Given the description of an element on the screen output the (x, y) to click on. 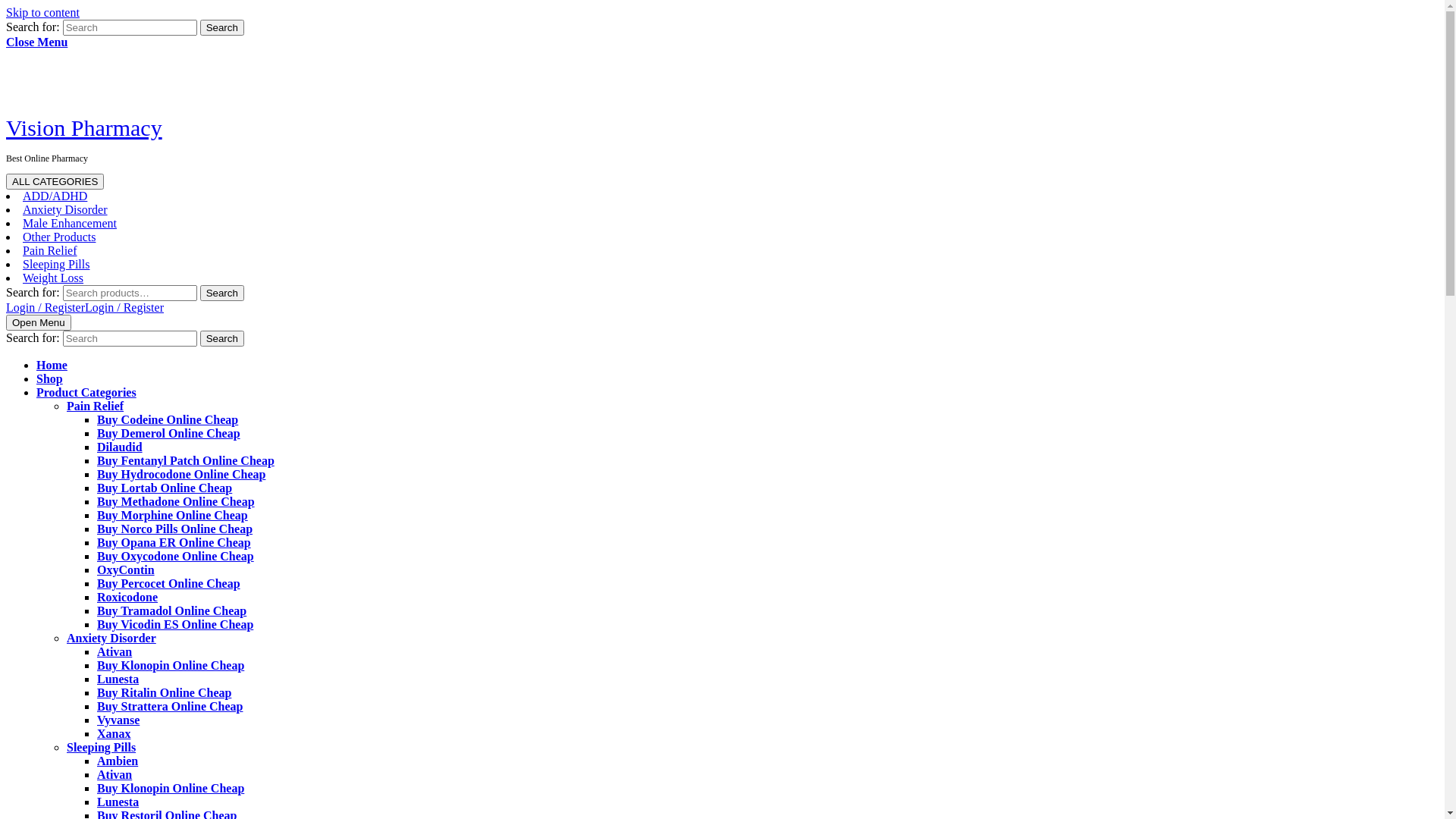
Buy Methadone Online Cheap Element type: text (175, 501)
Weight Loss Element type: text (52, 277)
Sleeping Pills Element type: text (100, 746)
Buy Fentanyl Patch Online Cheap Element type: text (185, 460)
Anxiety Disorder Element type: text (111, 637)
Pain Relief Element type: text (94, 405)
Login / RegisterLogin / Register Element type: text (84, 307)
Search Element type: text (222, 27)
Male Enhancement Element type: text (69, 222)
Open Menu Element type: text (38, 322)
Vyvanse Element type: text (118, 719)
Vision Pharmacy Element type: text (84, 127)
Anxiety Disorder Element type: text (64, 209)
Skip to content Element type: text (42, 12)
Buy Norco Pills Online Cheap Element type: text (174, 528)
Buy Oxycodone Online Cheap Element type: text (175, 555)
Buy Lortab Online Cheap Element type: text (164, 487)
Pain Relief Element type: text (49, 250)
Buy Tramadol Online Cheap Element type: text (171, 610)
Lunesta Element type: text (117, 801)
Buy Demerol Online Cheap Element type: text (168, 432)
Buy Morphine Online Cheap Element type: text (172, 514)
Sleeping Pills Element type: text (55, 263)
Ativan Element type: text (114, 651)
Buy Klonopin Online Cheap Element type: text (170, 787)
Buy Opana ER Online Cheap Element type: text (174, 542)
Home Element type: text (51, 364)
Dilaudid Element type: text (119, 446)
Xanax Element type: text (113, 733)
ADD/ADHD Element type: text (54, 195)
Buy Codeine Online Cheap Element type: text (167, 419)
Product Categories Element type: text (86, 391)
Buy Hydrocodone Online Cheap Element type: text (181, 473)
Buy Percocet Online Cheap Element type: text (168, 583)
OxyContin Element type: text (125, 569)
Roxicodone Element type: text (127, 596)
Buy Klonopin Online Cheap Element type: text (170, 664)
Ambien Element type: text (117, 760)
Buy Strattera Online Cheap Element type: text (169, 705)
Other Products Element type: text (58, 236)
Search Element type: text (222, 338)
Buy Vicodin ES Online Cheap Element type: text (175, 624)
Buy Ritalin Online Cheap Element type: text (164, 692)
Lunesta Element type: text (117, 678)
Shop Element type: text (49, 378)
Search Element type: text (222, 293)
Ativan Element type: text (114, 774)
ALL CATEGORIES Element type: text (54, 181)
Close Menu Element type: text (36, 41)
